Given the description of an element on the screen output the (x, y) to click on. 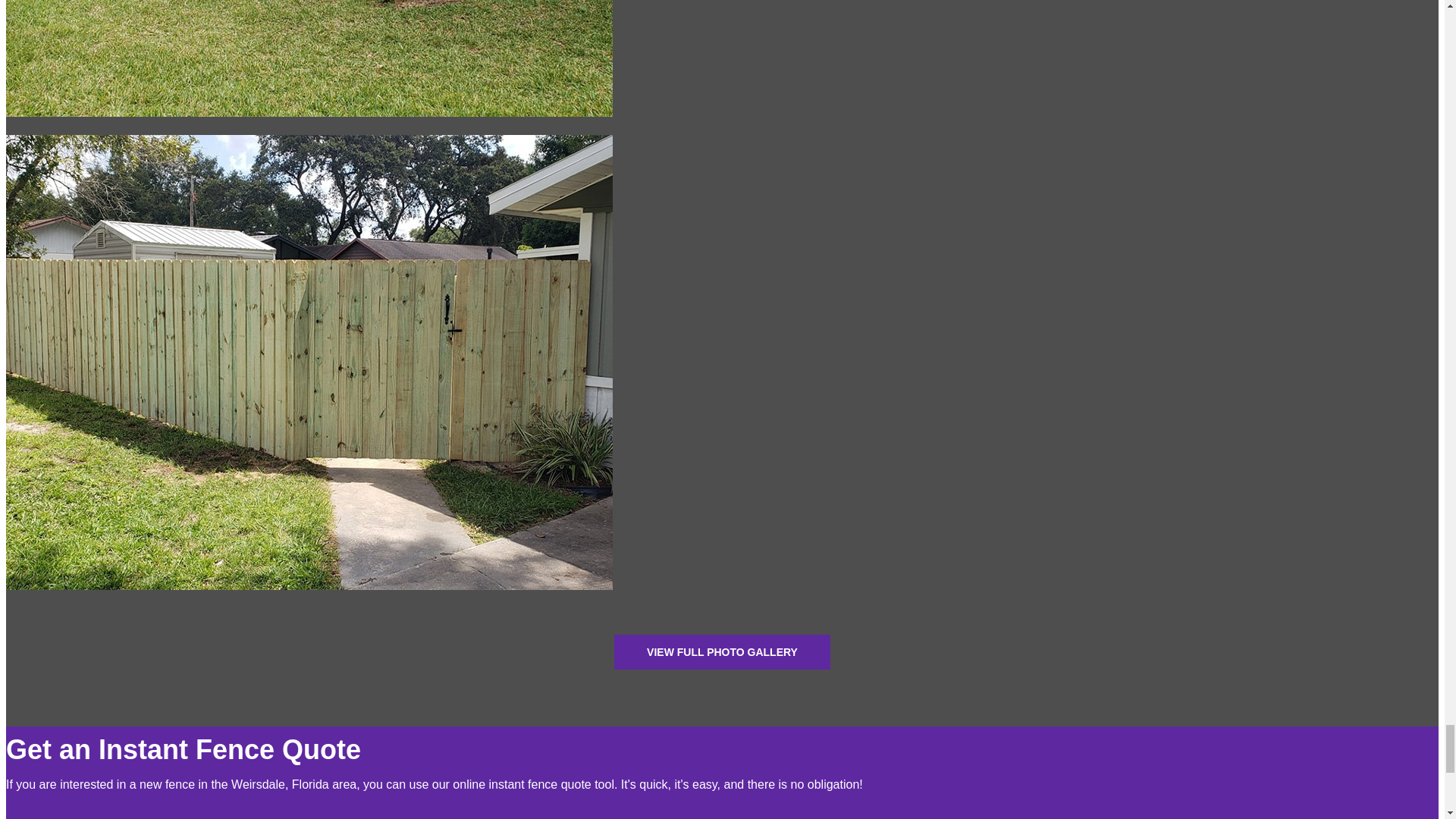
Weirsdale Florida Fence Project Photo (308, 600)
Weirsdale Florida Fence Project Photo (308, 127)
